Given the description of an element on the screen output the (x, y) to click on. 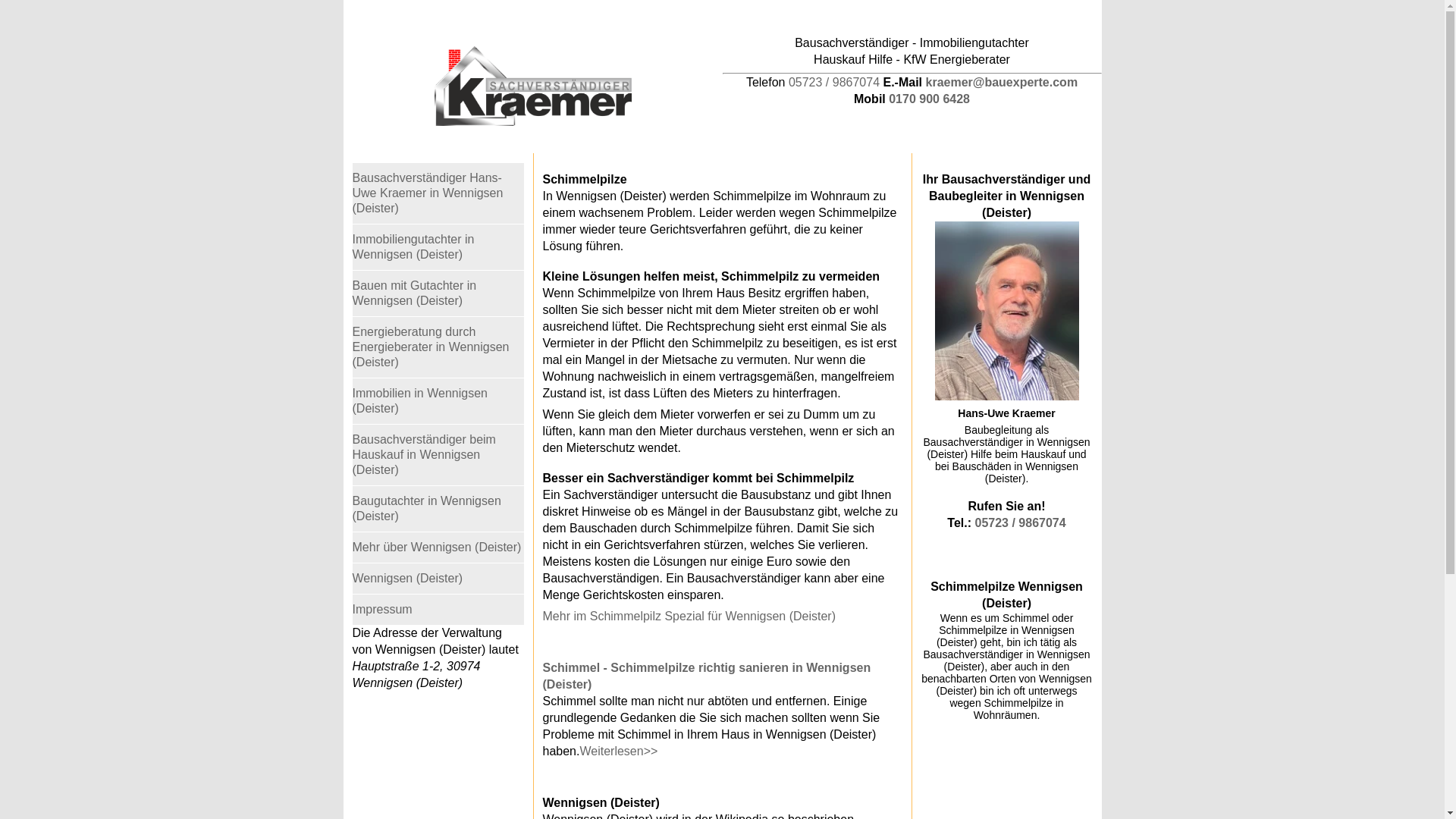
05723 / 9867074 Element type: text (833, 81)
Wennigsen (Deister) Element type: text (437, 578)
kraemer@bauexperte.com Element type: text (1001, 81)
Immobilien in Wennigsen (Deister) Element type: text (437, 400)
05723 / 9867074 Element type: text (1020, 522)
Baugutachter in Wennigsen (Deister) Element type: text (437, 508)
Energieberatung durch Energieberater in Wennigsen (Deister) Element type: text (437, 346)
0170 900 6428 Element type: text (928, 98)
Immobiliengutachter in Wennigsen (Deister) Element type: text (437, 246)
Impressum Element type: text (437, 609)
Weiterlesen>> Element type: text (618, 750)
Bauen mit Gutachter in Wennigsen (Deister) Element type: text (437, 293)
